Given the description of an element on the screen output the (x, y) to click on. 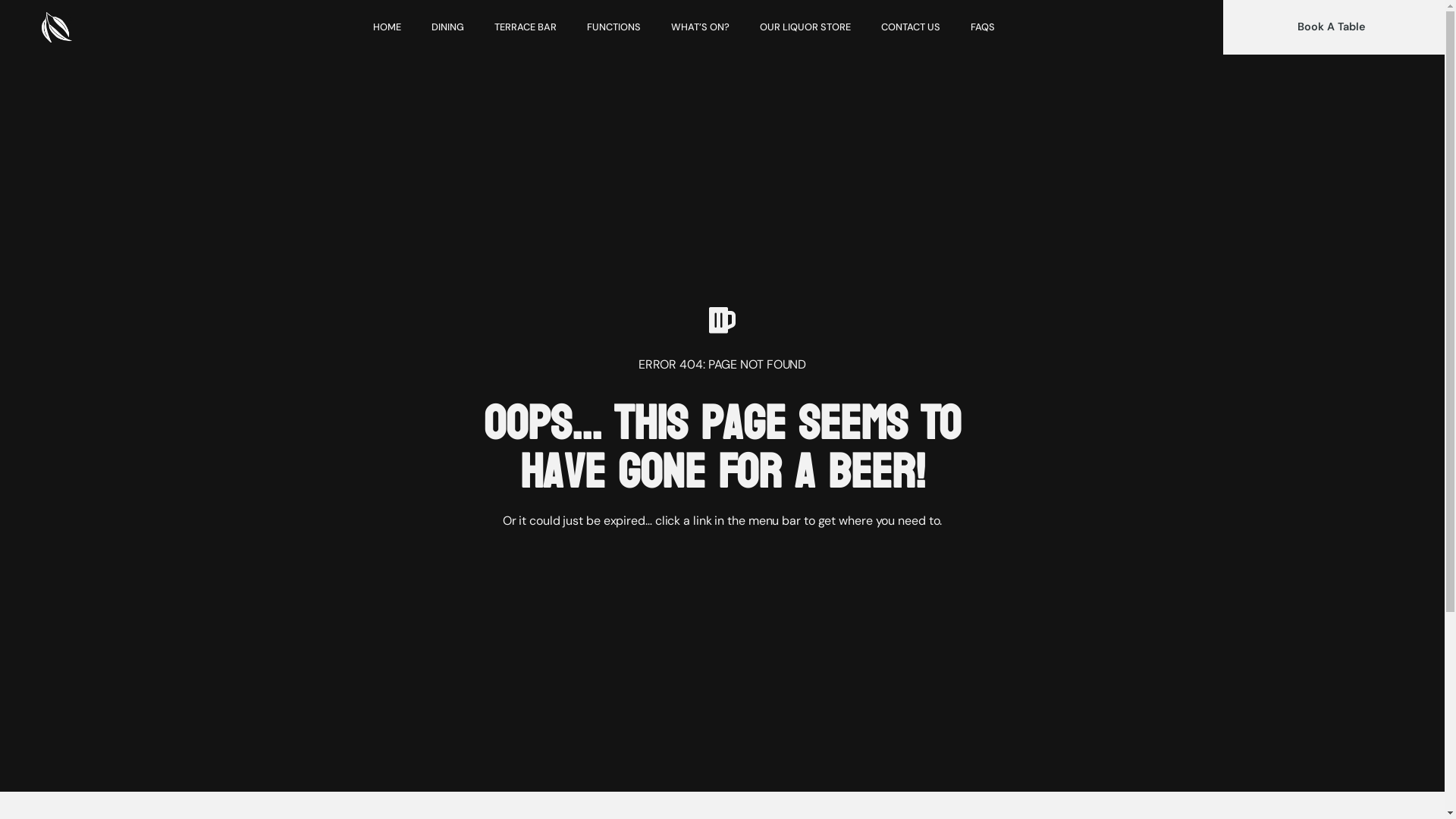
DINING Element type: text (447, 26)
FUNCTIONS Element type: text (613, 26)
FAQS Element type: text (982, 26)
HOME Element type: text (386, 26)
Book A Table Element type: text (1331, 27)
TERRACE BAR Element type: text (525, 26)
CONTACT US Element type: text (910, 26)
OUR LIQUOR STORE Element type: text (805, 26)
